Given the description of an element on the screen output the (x, y) to click on. 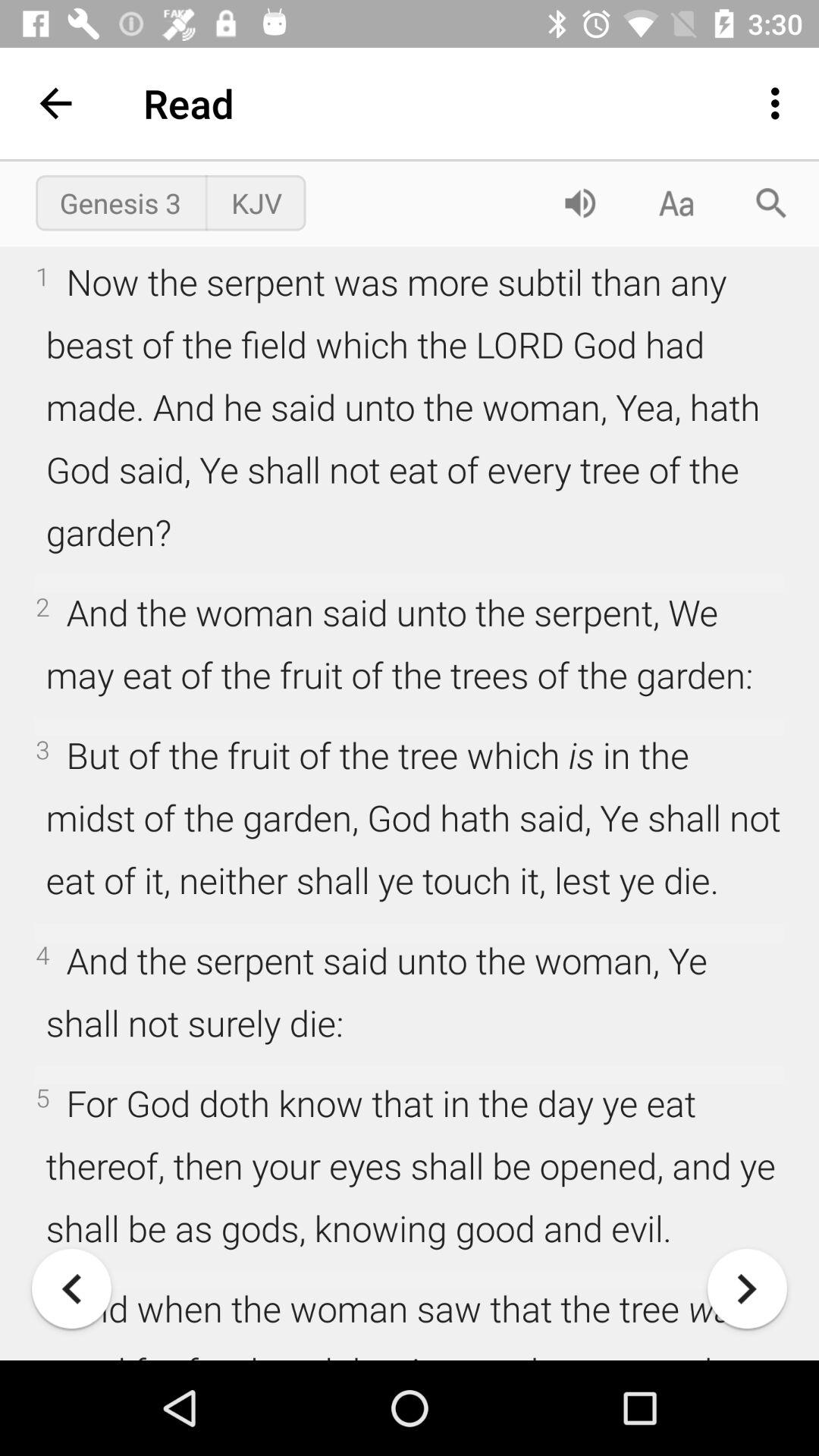
open item below the 4 and the item (71, 1288)
